Given the description of an element on the screen output the (x, y) to click on. 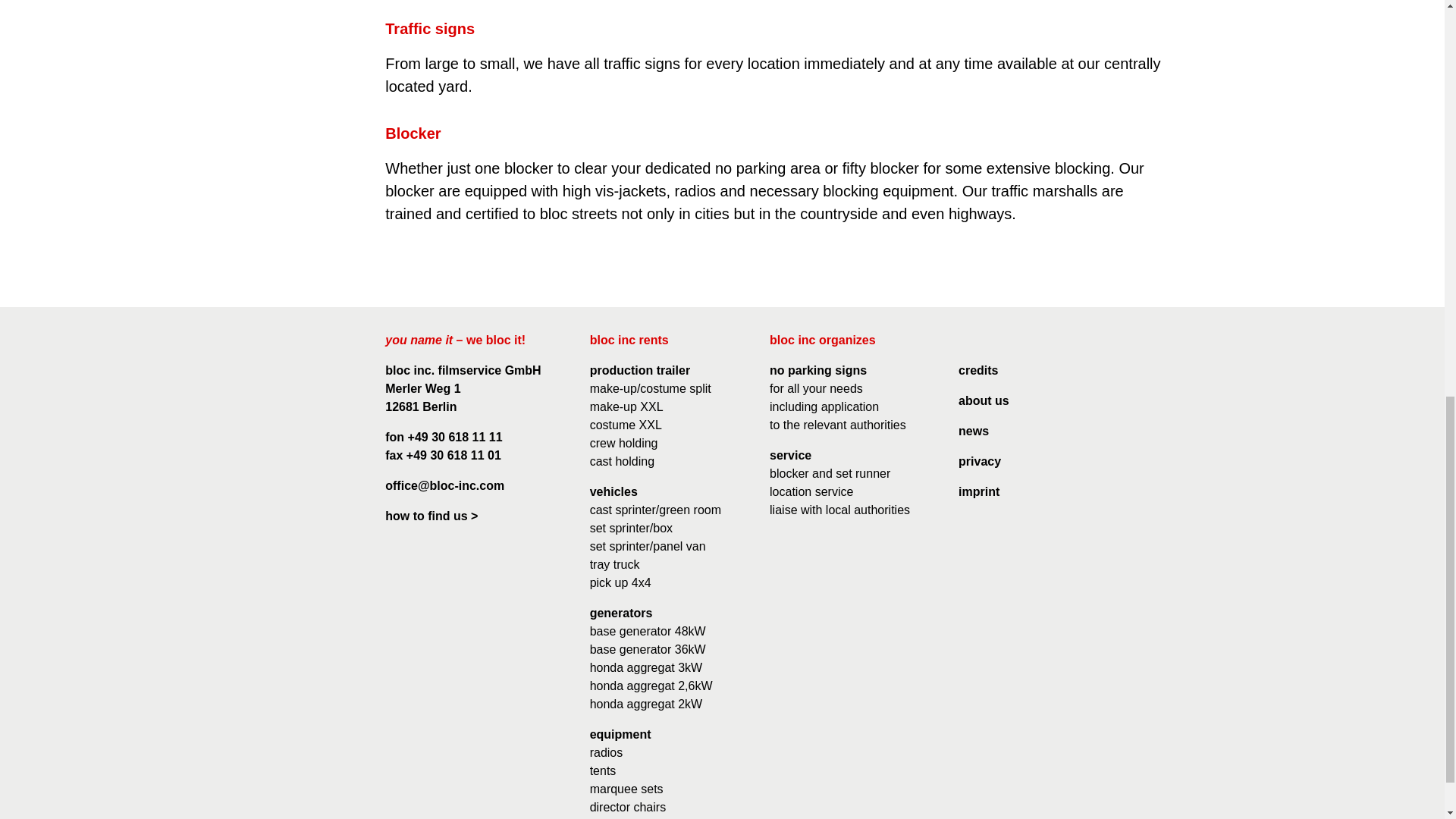
costume XXL (625, 424)
crew holding (623, 442)
cast holding (621, 461)
honda aggregat 3kW (646, 667)
pick up 4x4 (619, 582)
generators (620, 612)
honda aggregat 2,6kW (651, 685)
equipment (619, 734)
base generator 48kW (647, 631)
vehicles (613, 491)
